Given the description of an element on the screen output the (x, y) to click on. 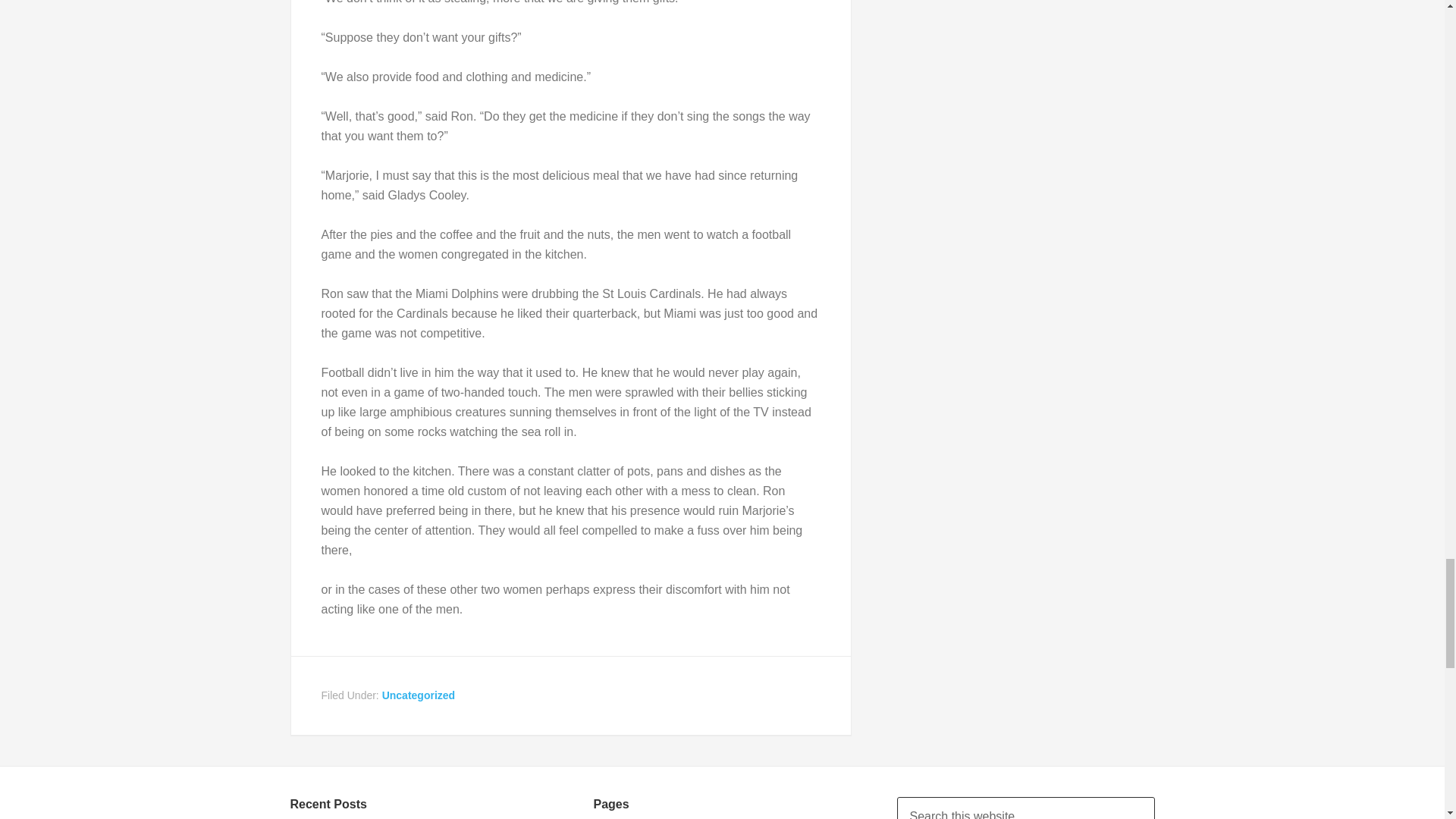
Uncategorized (417, 695)
